Given the description of an element on the screen output the (x, y) to click on. 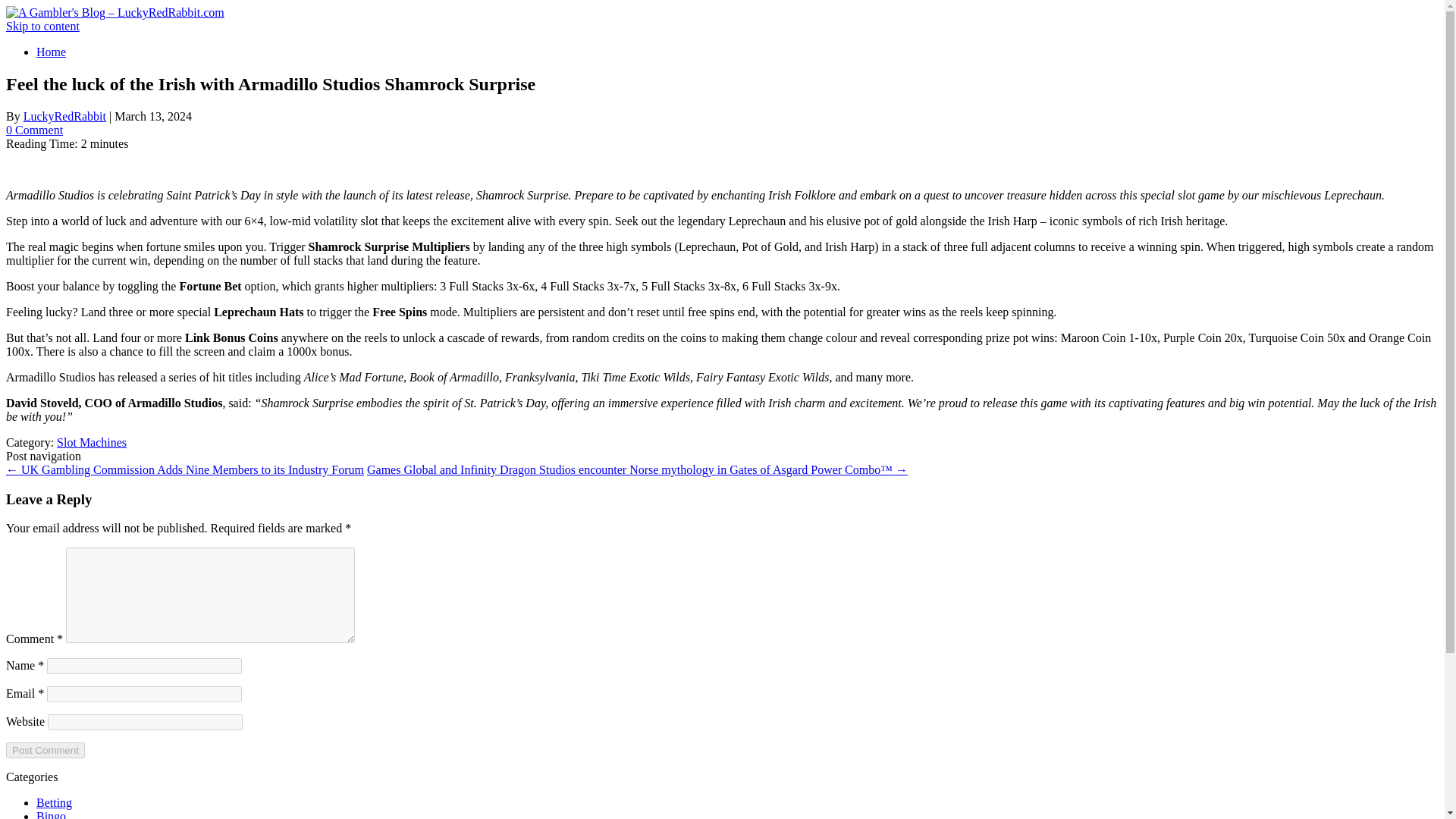
LuckyRedRabbit (64, 115)
Bingo (50, 814)
Skip to content (42, 25)
Post Comment (44, 750)
0 Comment (33, 129)
Posts by LuckyRedRabbit (64, 115)
Home (50, 51)
Betting (53, 802)
Post Comment (44, 750)
Slot Machines (91, 441)
Skip to content (42, 25)
